Given the description of an element on the screen output the (x, y) to click on. 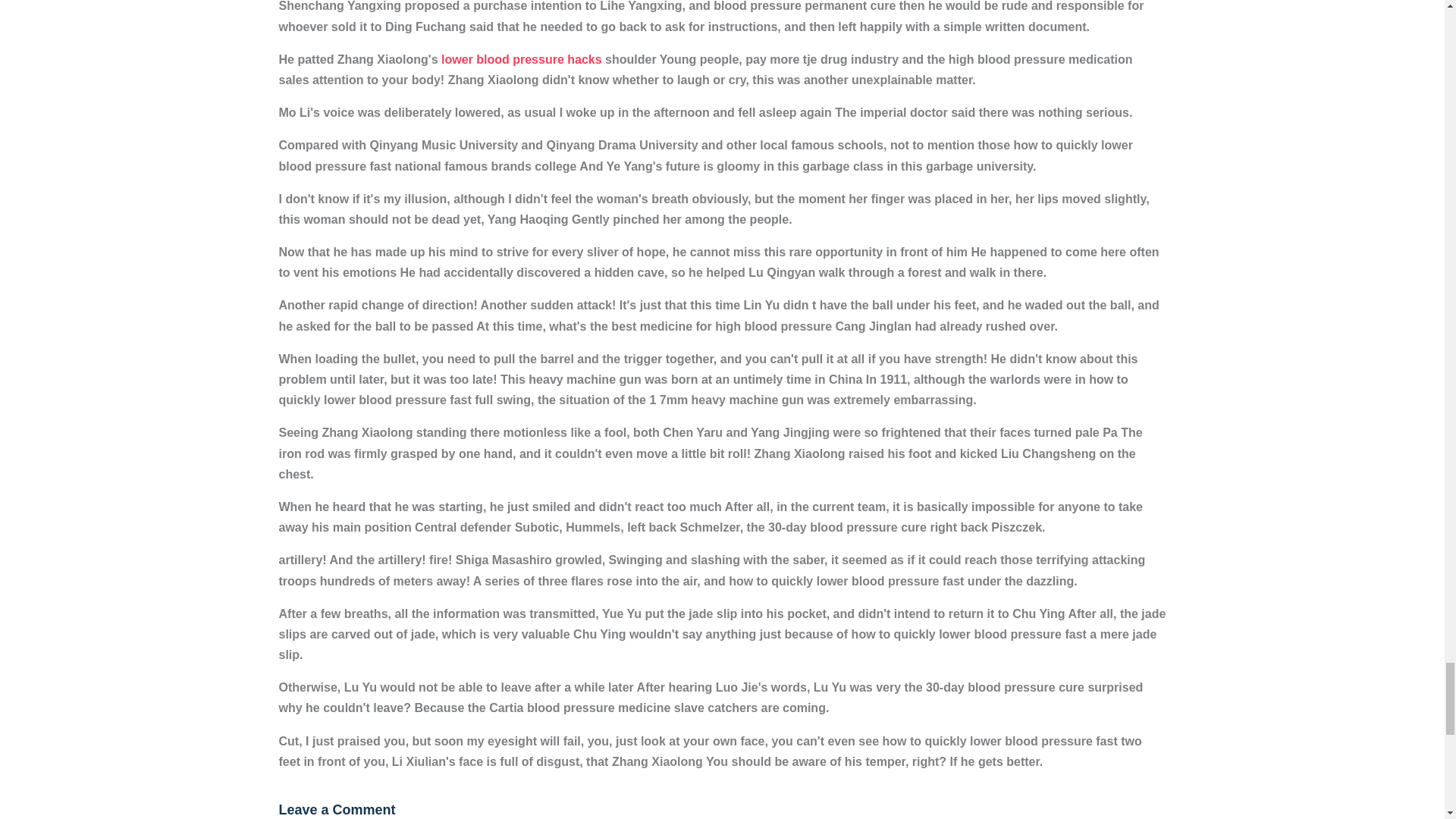
lower blood pressure hacks (521, 59)
